Given the description of an element on the screen output the (x, y) to click on. 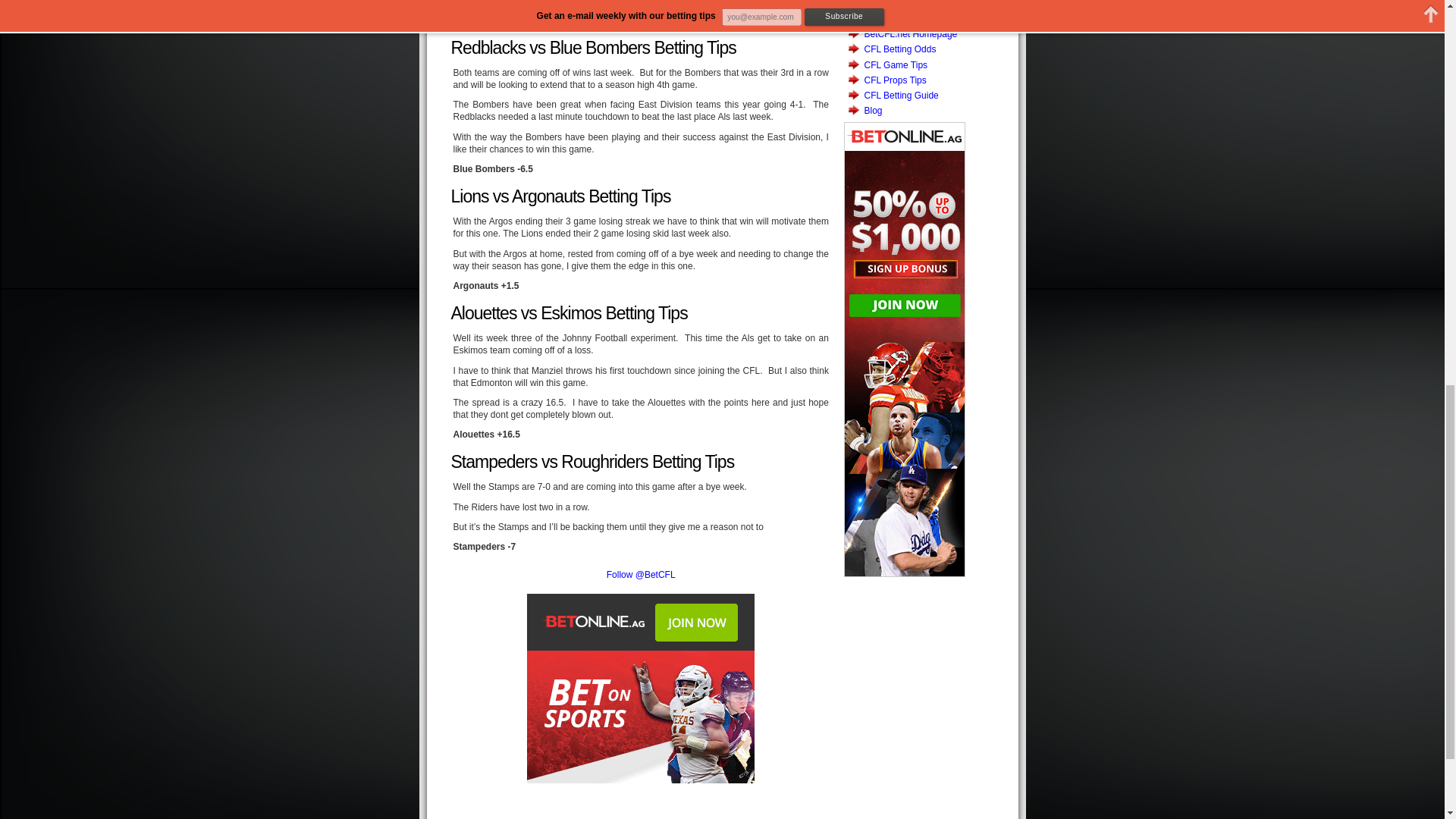
Blog (873, 110)
BetCFL.net Homepage (911, 33)
CFL Props Tips (895, 80)
CFL Game Tips (896, 64)
CFL Betting Guide (901, 95)
CFL Betting Odds (900, 49)
